Given the description of an element on the screen output the (x, y) to click on. 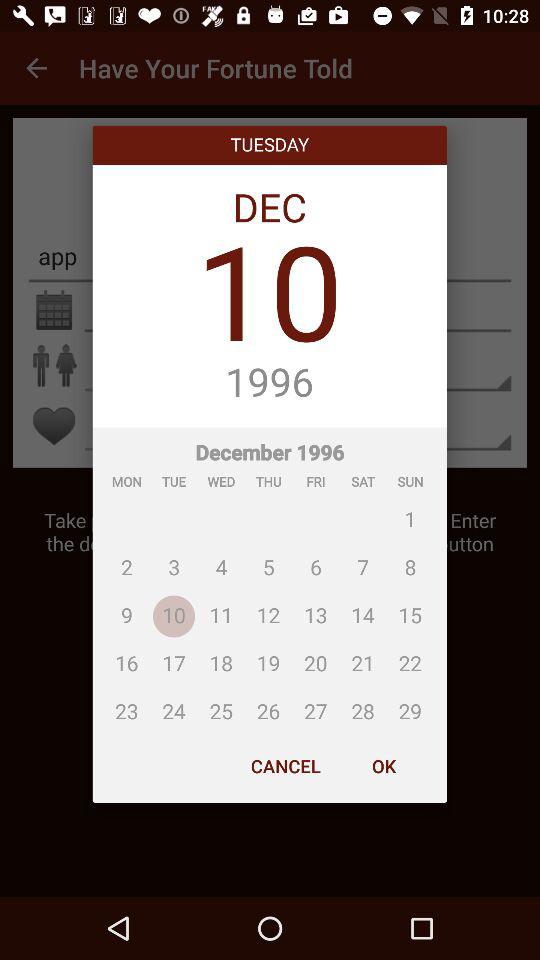
launch the icon below 10 icon (269, 383)
